Given the description of an element on the screen output the (x, y) to click on. 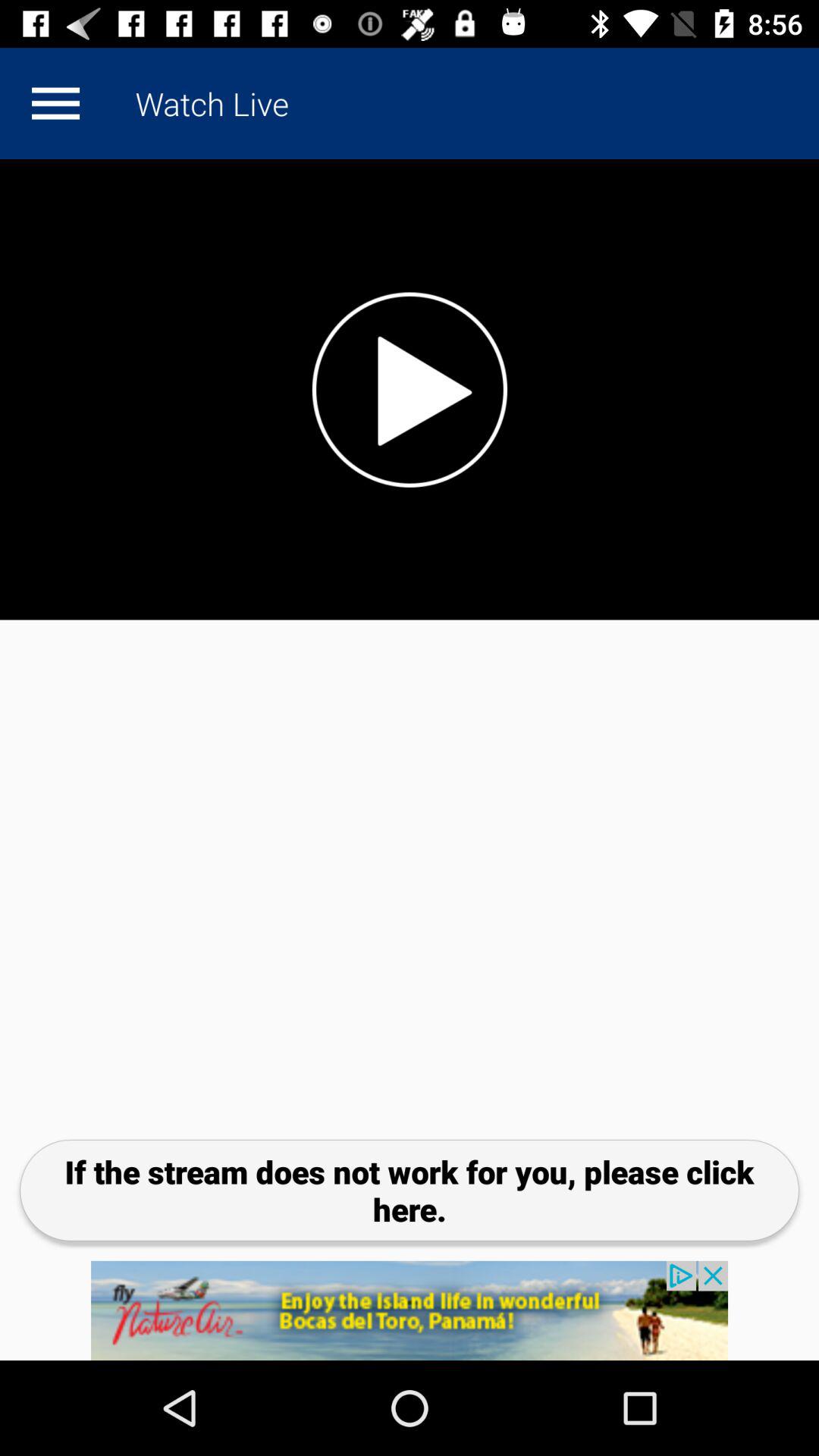
play (409, 389)
